Given the description of an element on the screen output the (x, y) to click on. 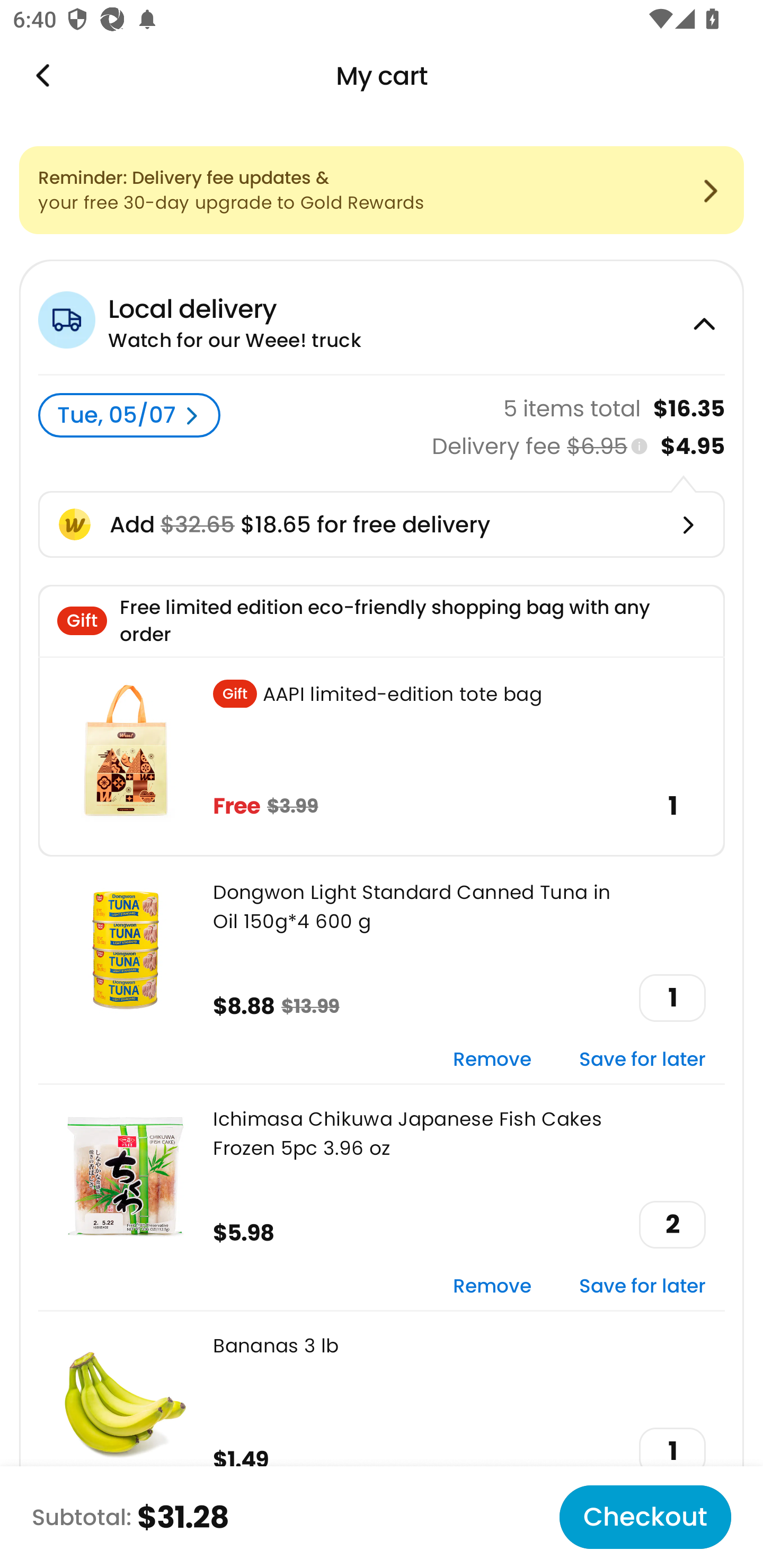
Local delivery Watch for our Weee! truck (381, 317)
Tue, 05/07 (129, 415)
Add $32.65 $18.65 for free delivery (381, 524)
. AAPI limited-edition tote bag Free $3.99 1 (381, 756)
1 (672, 997)
Remove (491, 1060)
Save for later (642, 1060)
2 (672, 1224)
Remove (491, 1286)
Save for later (642, 1286)
Bananas 3 lb $1.49 1 Remove Save for later (381, 1422)
1 (672, 1450)
Checkout (644, 1516)
